Given the description of an element on the screen output the (x, y) to click on. 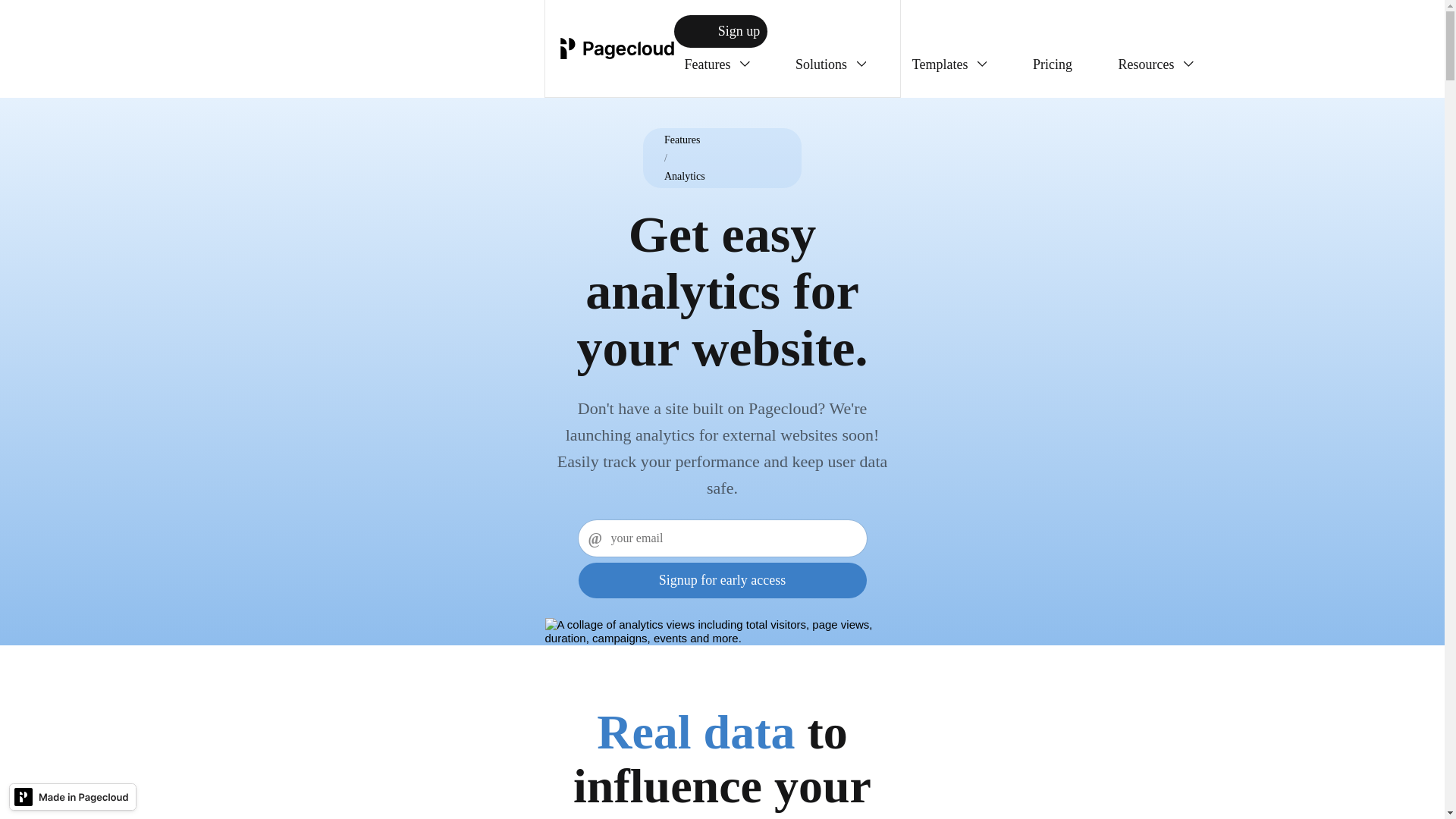
Pricing (1052, 63)
Pagecloud website builder (615, 47)
Analytics UI collage (721, 631)
Resources (1155, 63)
Create websites and popups for free with Pagecloud (72, 800)
Solutions (830, 63)
Pagecloud website builder (615, 47)
Sign up (719, 31)
Templates (949, 63)
Features (716, 63)
